Given the description of an element on the screen output the (x, y) to click on. 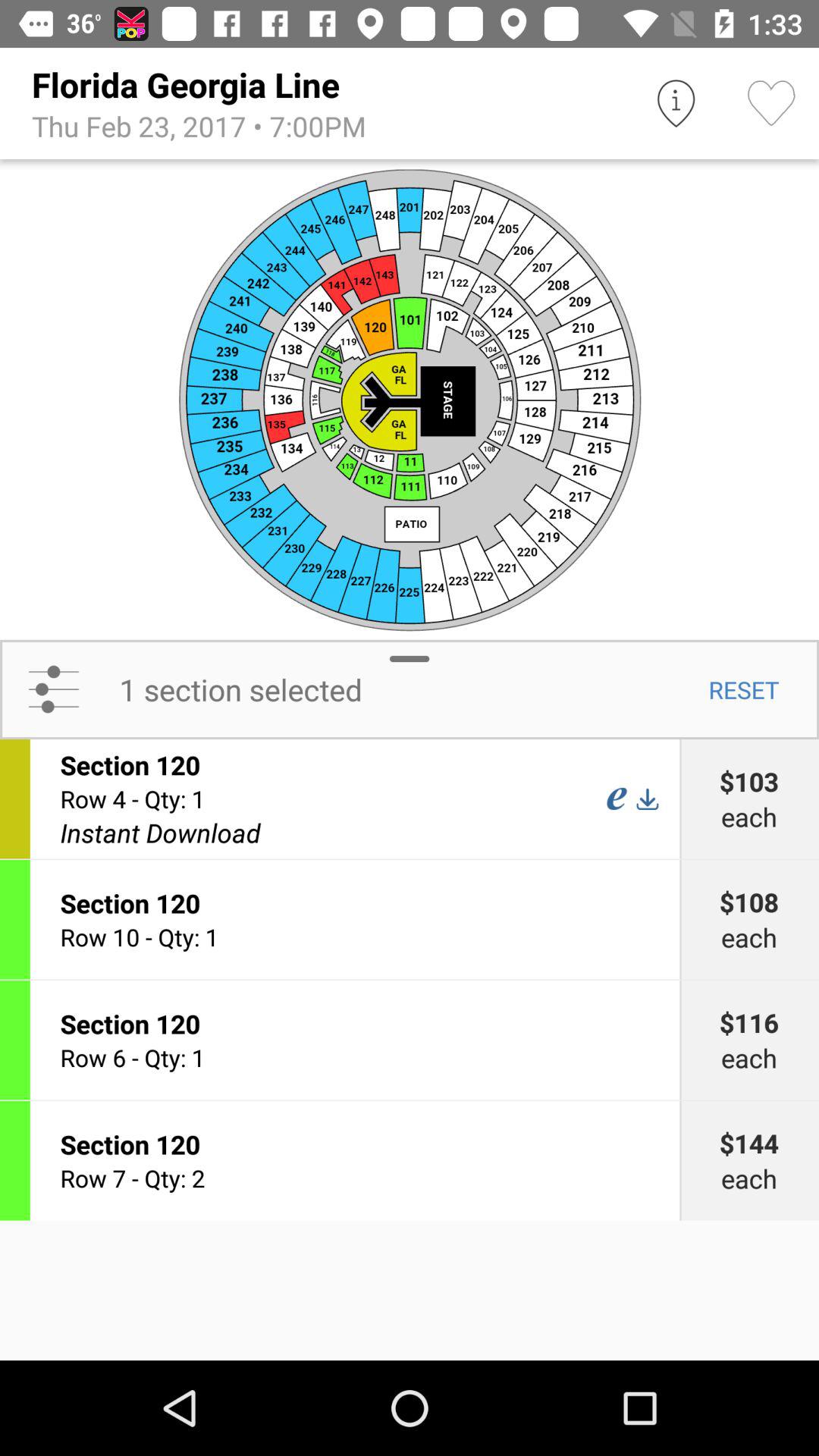
enlarge photo (409, 399)
